Given the description of an element on the screen output the (x, y) to click on. 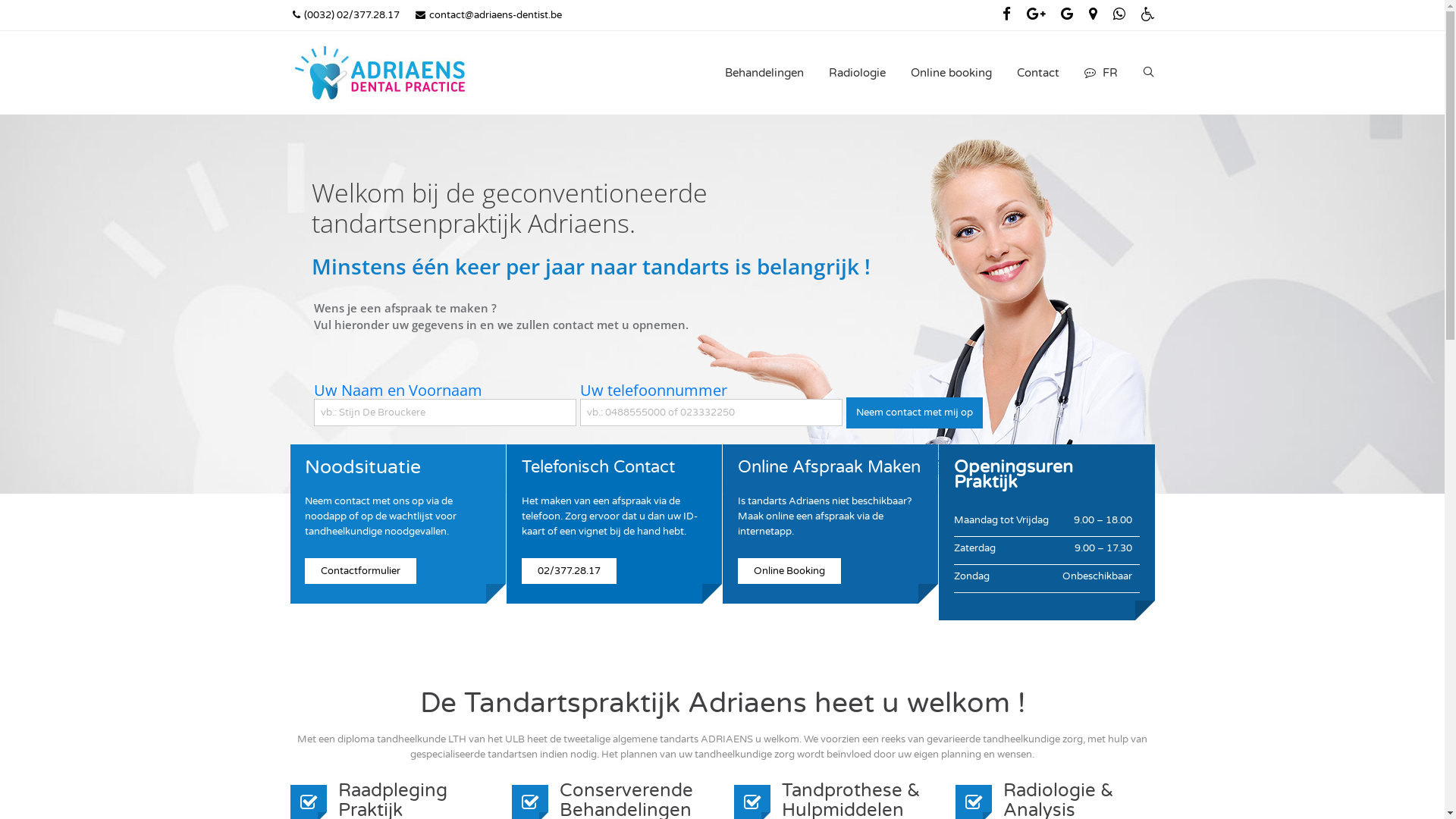
Contactformulier Element type: text (360, 570)
Noodsituatie Element type: text (397, 466)
Behandelingen Element type: text (763, 72)
(0032) 02/377.28.17 Element type: text (345, 15)
Telefonisch Contact Element type: text (614, 466)
Online booking Element type: text (951, 72)
FR Element type: text (1100, 72)
Online Booking Element type: text (788, 570)
Contact Element type: text (1037, 72)
contact@adriaens-dentist.be Element type: text (488, 15)
Radiologie & Analysis Element type: text (1077, 799)
Tandprothese & Hulpmiddelen Element type: text (855, 799)
Raadpleging Praktijk Element type: text (412, 799)
02/377.28.17 Element type: text (568, 570)
Openingsuren Praktijk Element type: text (1046, 474)
Online Afspraak Maken Element type: text (829, 466)
Neem contact met mij op Element type: text (914, 412)
Conserverende Behandelingen Element type: text (634, 799)
Radiologie Element type: text (857, 72)
